Given the description of an element on the screen output the (x, y) to click on. 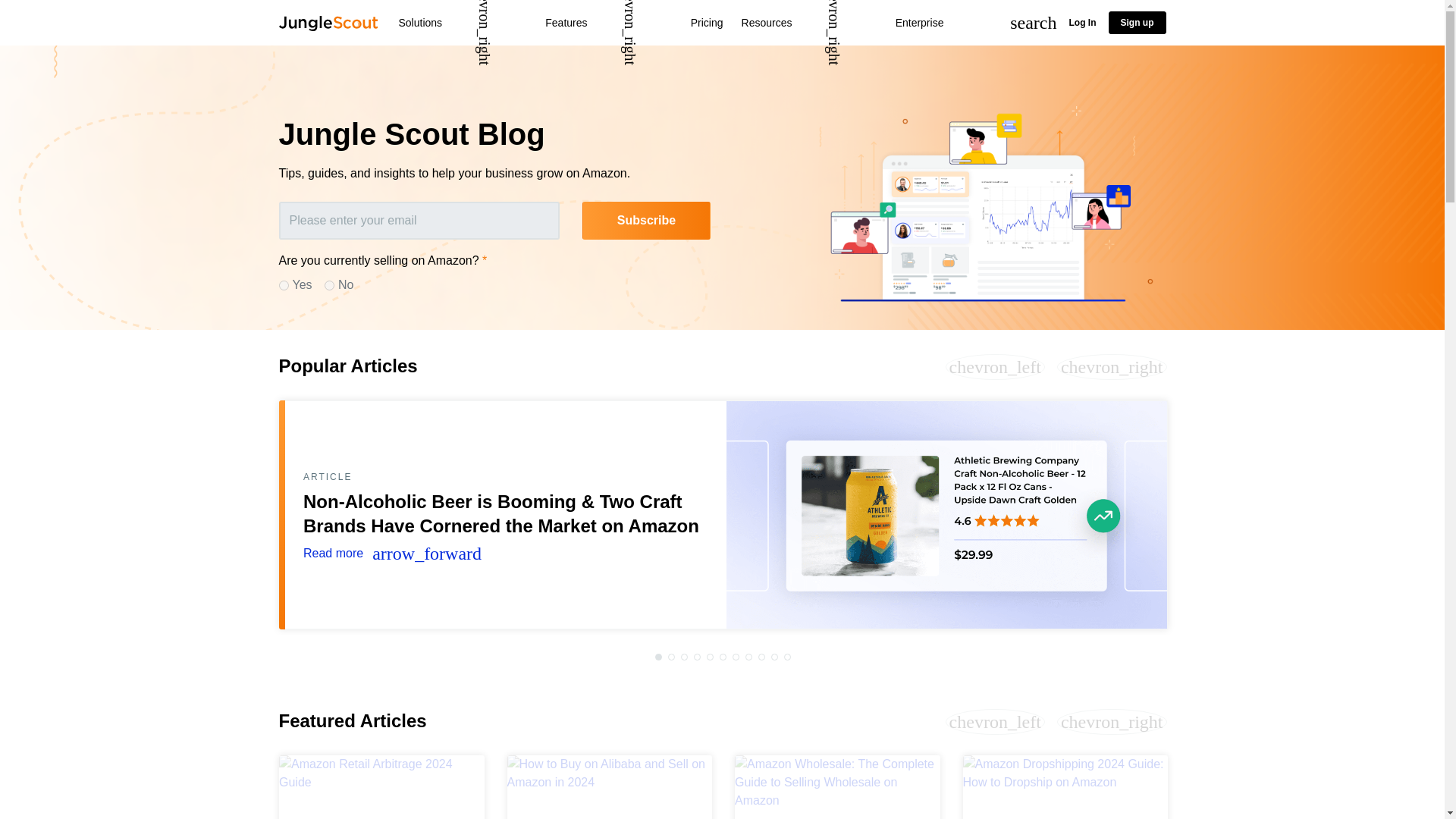
Professional Seller (283, 285)
New Seller (329, 285)
Sign up (1137, 22)
Log In (1082, 22)
